Given the description of an element on the screen output the (x, y) to click on. 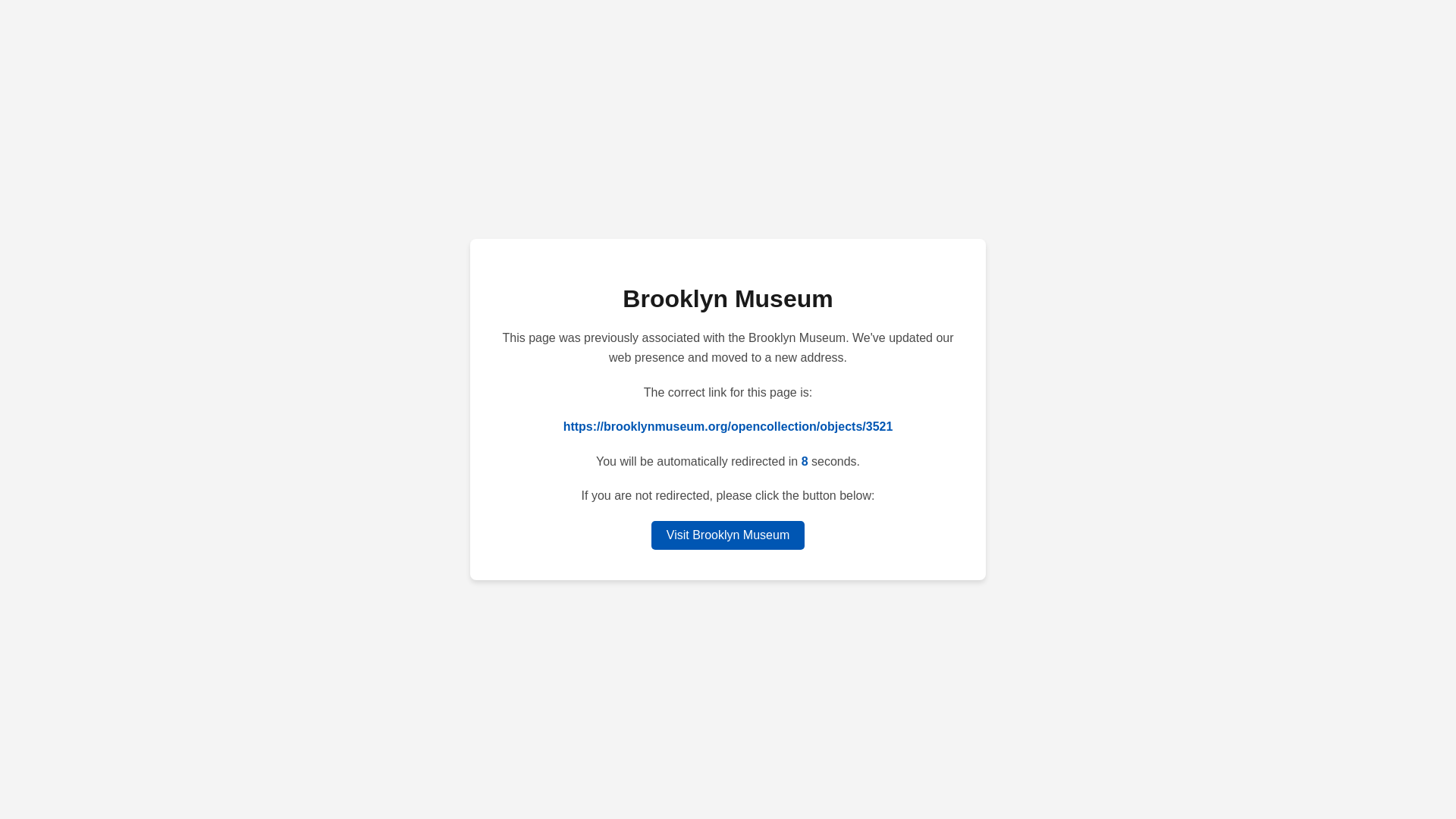
Visit Brooklyn Museum (727, 534)
